Given the description of an element on the screen output the (x, y) to click on. 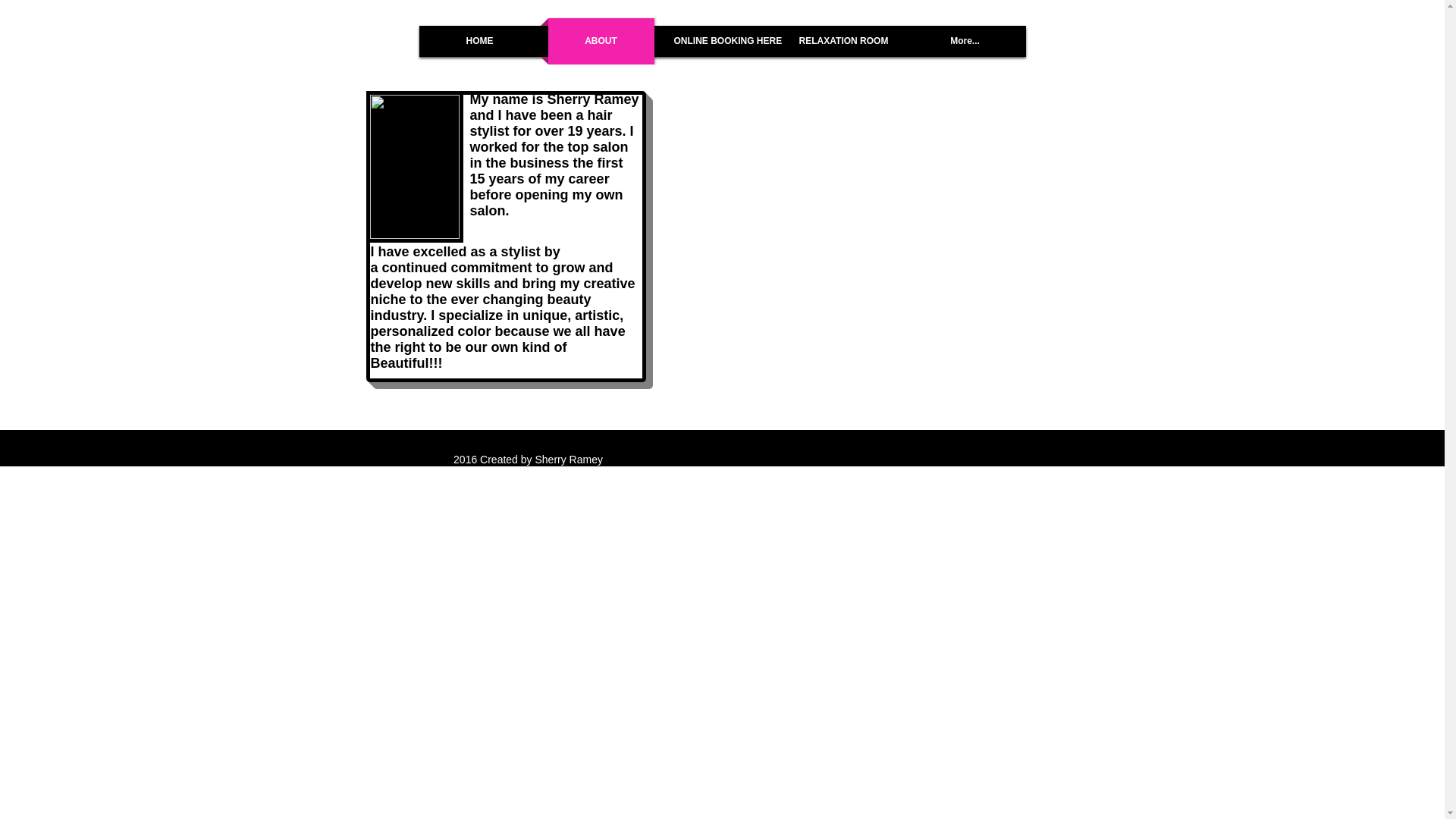
ONLINE BOOKING HERE (722, 41)
ABOUT (600, 41)
HOME (479, 41)
RELAXATION ROOM (843, 41)
